Given the description of an element on the screen output the (x, y) to click on. 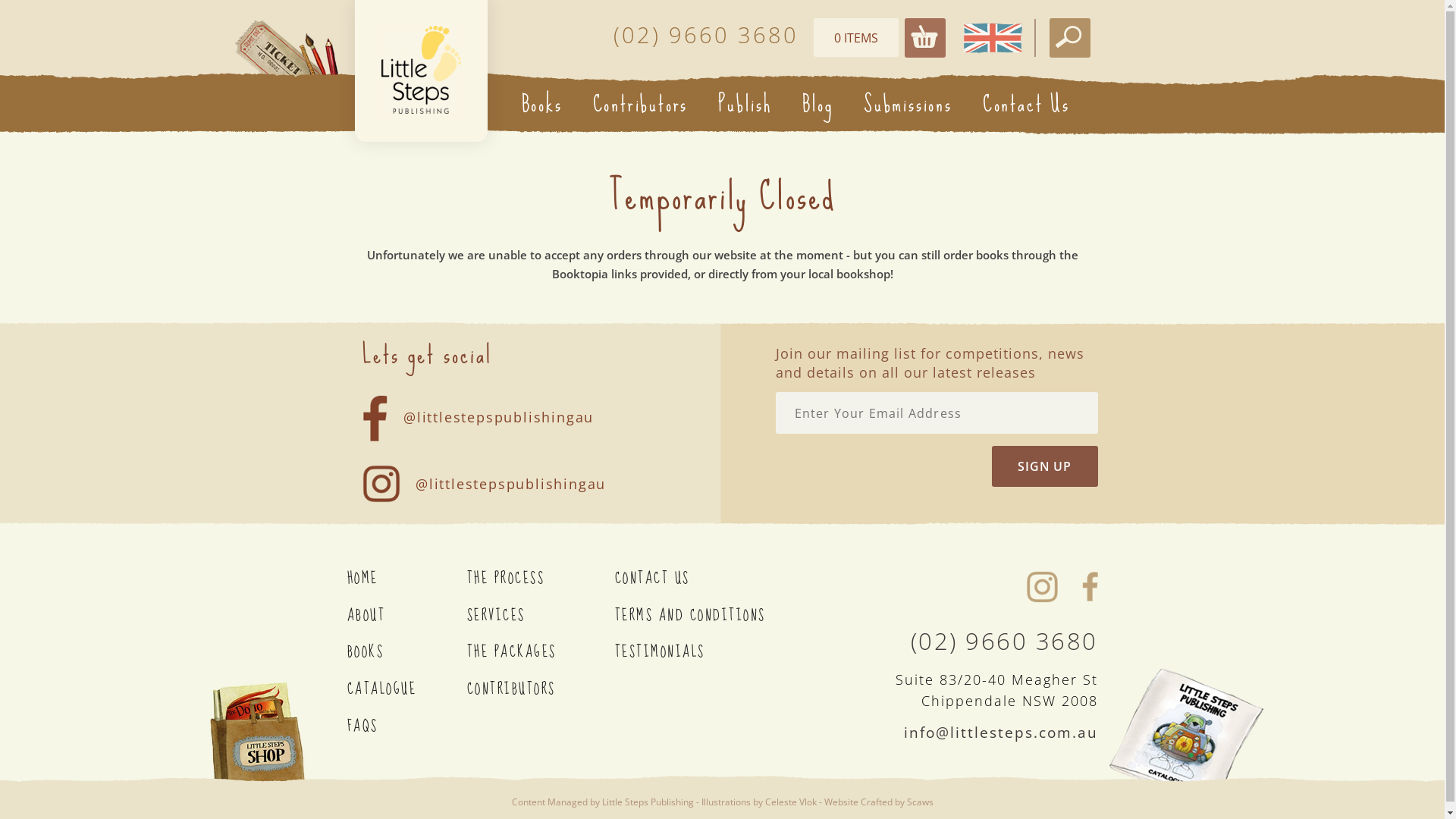
FAQS Element type: text (407, 726)
Blog Element type: text (817, 103)
info@littlesteps.com.au Element type: text (1000, 732)
  Element type: text (420, 69)
TESTIMONIALS Element type: text (691, 652)
HOME Element type: text (407, 578)
CONTACT US Element type: text (691, 578)
Website Crafted by Scaws Element type: text (877, 801)
ABOUT Element type: text (407, 616)
(02) 9660 3680 Element type: text (995, 641)
SIGN UP Element type: text (1044, 465)
(02) 9660 3680 Element type: text (704, 34)
TERMS AND CONDITIONS Element type: text (691, 616)
THE PACKAGES Element type: text (541, 652)
Publish Element type: text (744, 103)
0 ITEMS Element type: text (854, 37)
SERVICES Element type: text (541, 616)
Submissions Element type: text (907, 103)
Contact Us Element type: text (1026, 103)
Books Element type: text (541, 103)
CONTRIBUTORS Element type: text (541, 689)
BOOKS Element type: text (407, 652)
Contributors Element type: text (640, 103)
CATALOGUE Element type: text (407, 689)
THE PROCESS Element type: text (541, 578)
   @littlestepspublishingau Element type: text (491, 405)
   @littlestepspublishingau Element type: text (503, 474)
